Given the description of an element on the screen output the (x, y) to click on. 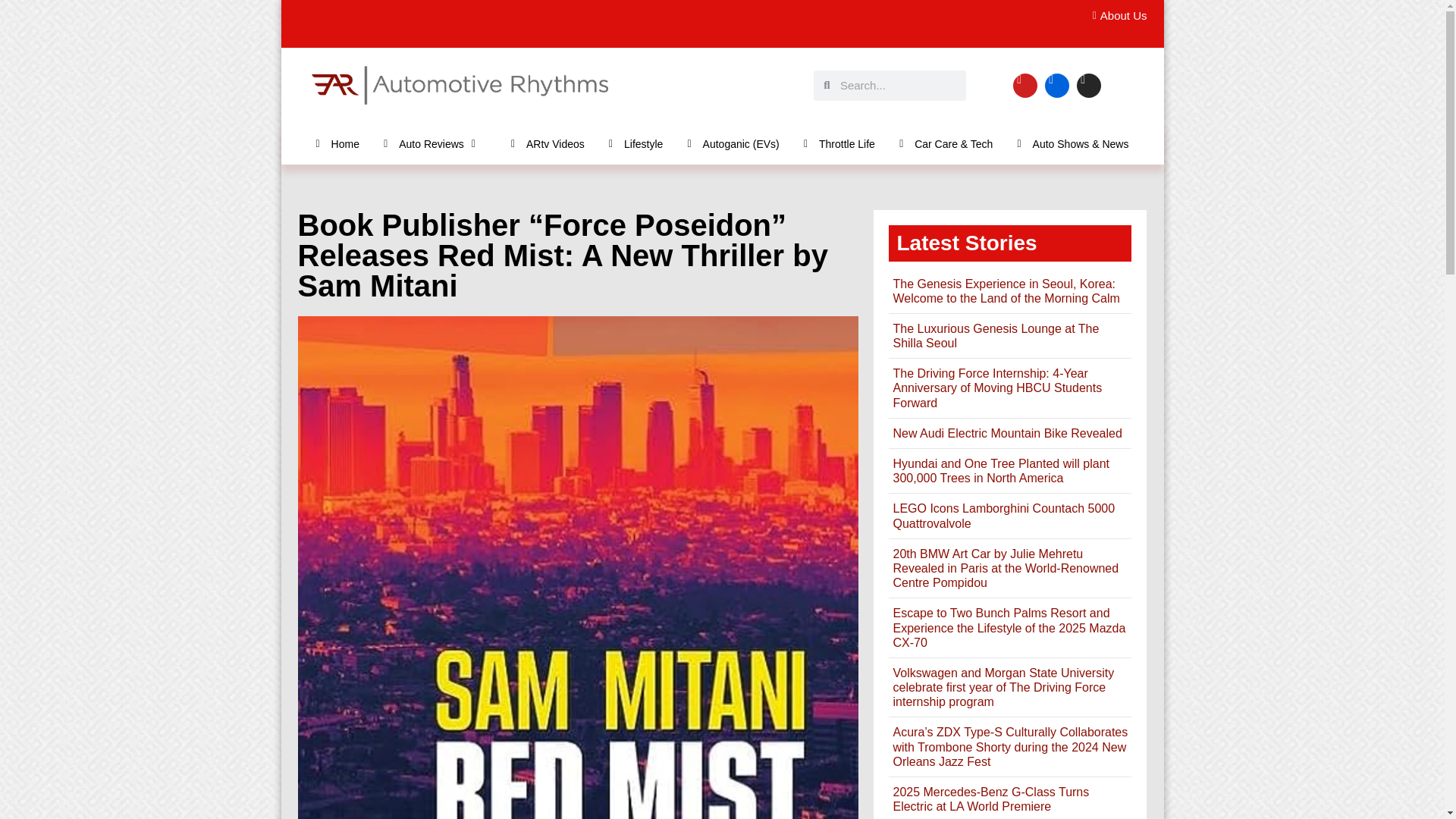
Throttle Life (839, 142)
Auto Reviews (435, 142)
The Luxurious Genesis Lounge at The Shilla Seoul (995, 335)
About Us (1115, 16)
New Audi Electric Mountain Bike Revealed (1006, 432)
Lifestyle (635, 142)
LEGO Icons Lamborghini Countach 5000 Quattrovalvole (1003, 515)
ARtv Videos (547, 142)
Home (336, 142)
